Given the description of an element on the screen output the (x, y) to click on. 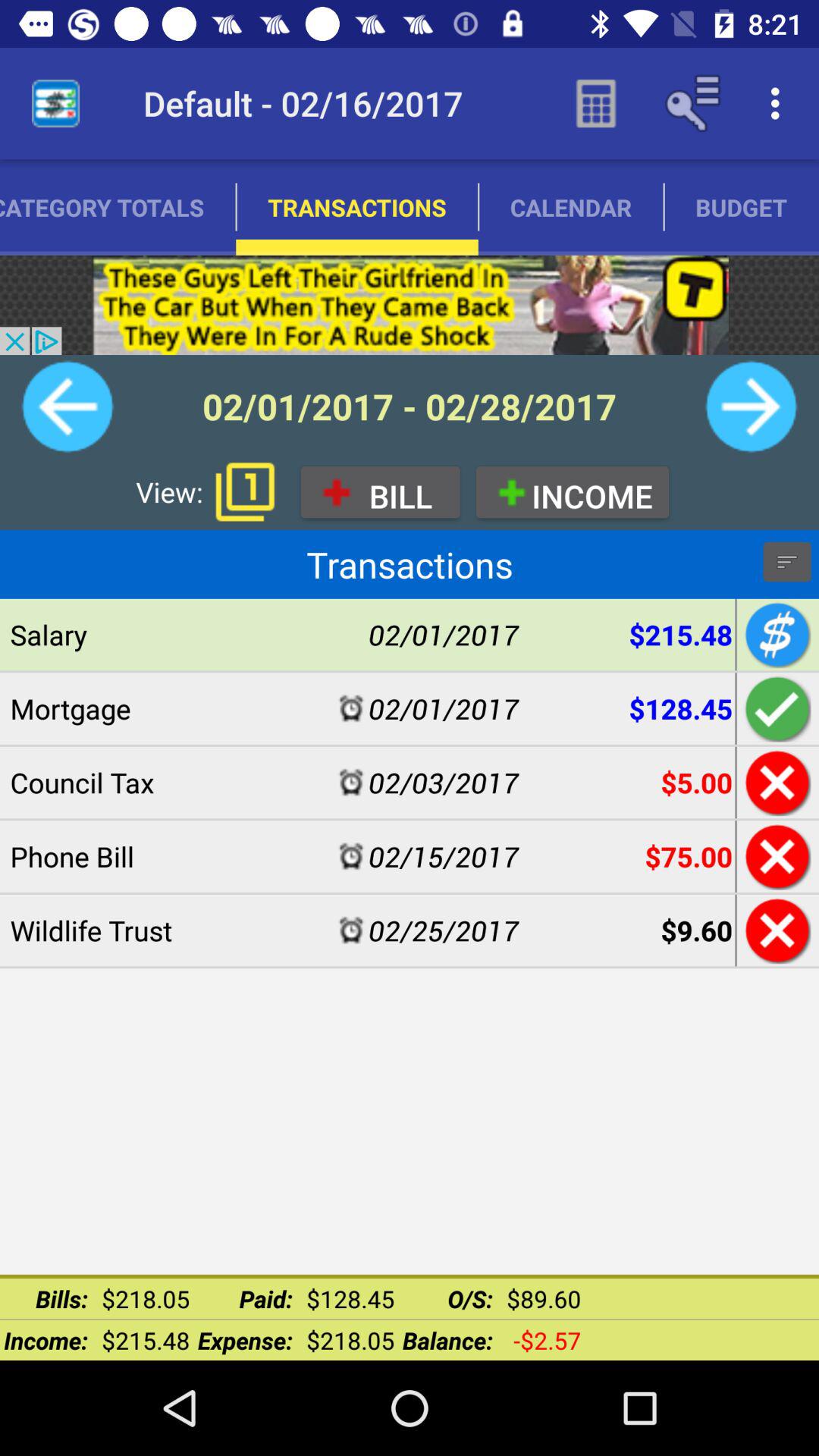
visit sponsor advertisement (409, 304)
